Given the description of an element on the screen output the (x, y) to click on. 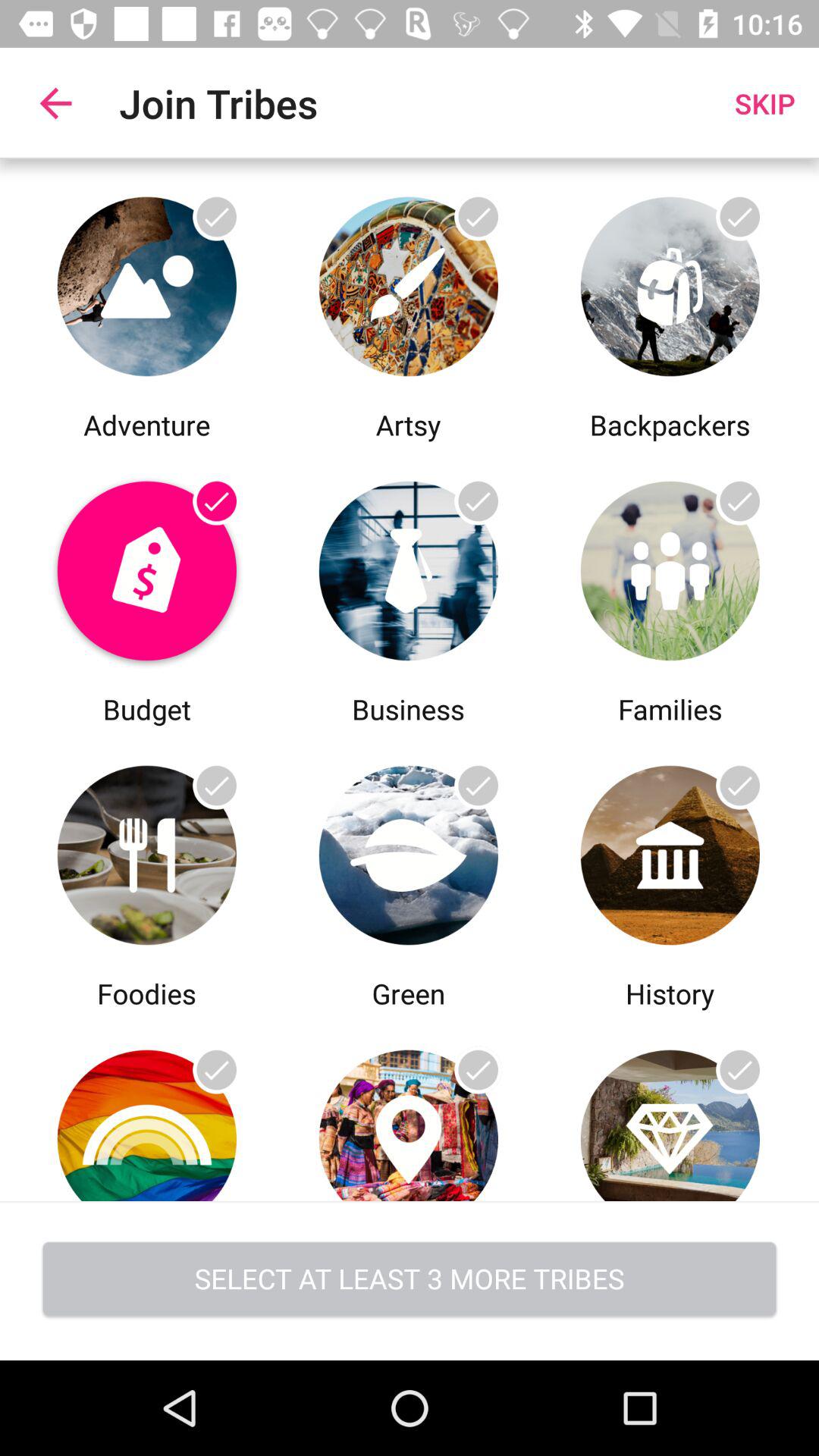
join tribe (669, 1106)
